Given the description of an element on the screen output the (x, y) to click on. 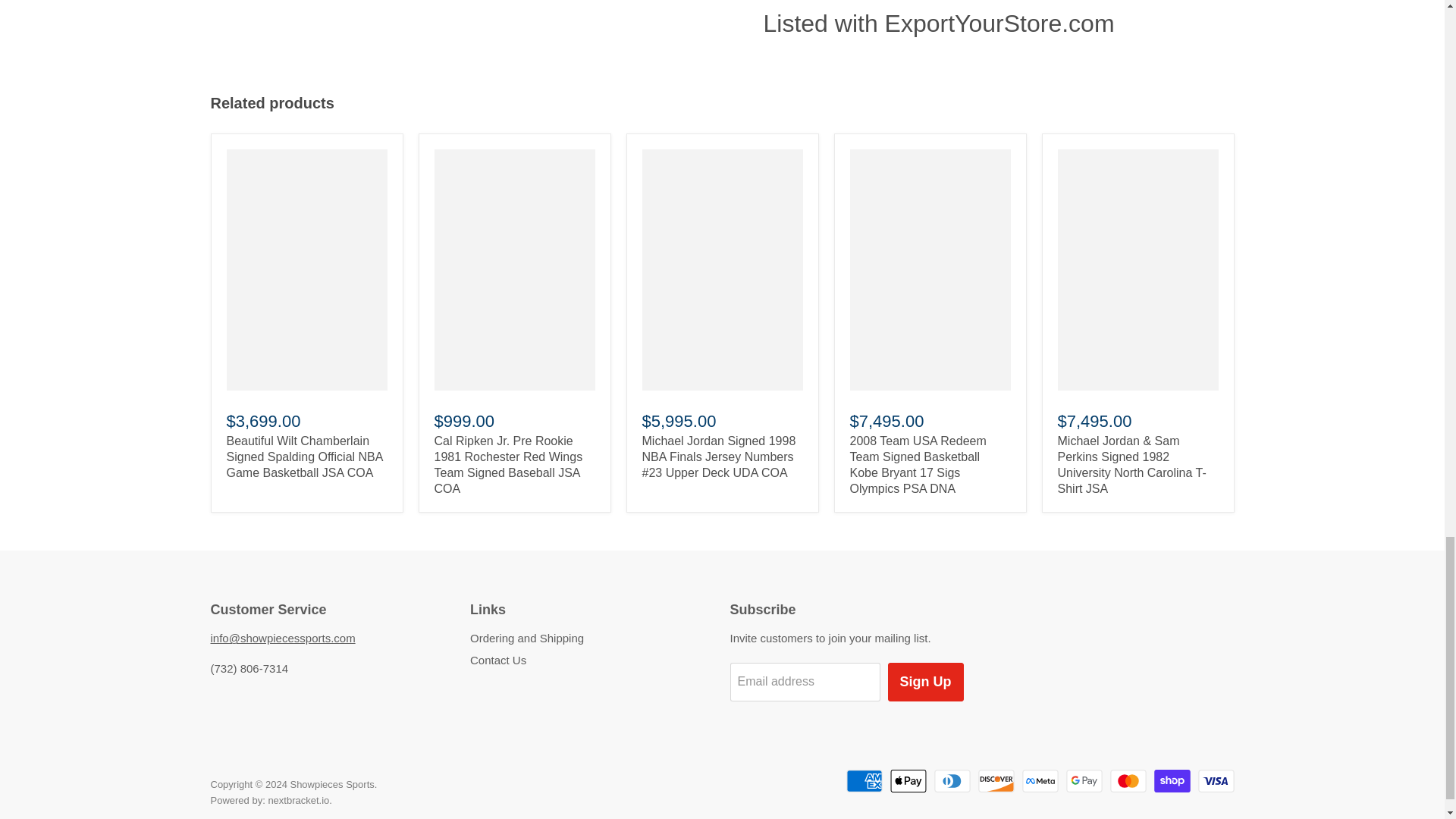
Shop Pay (1172, 780)
Mastercard (1128, 780)
Meta Pay (1040, 780)
Apple Pay (907, 780)
Google Pay (1083, 780)
American Express (863, 780)
Diners Club (952, 780)
Discover (996, 780)
